Given the description of an element on the screen output the (x, y) to click on. 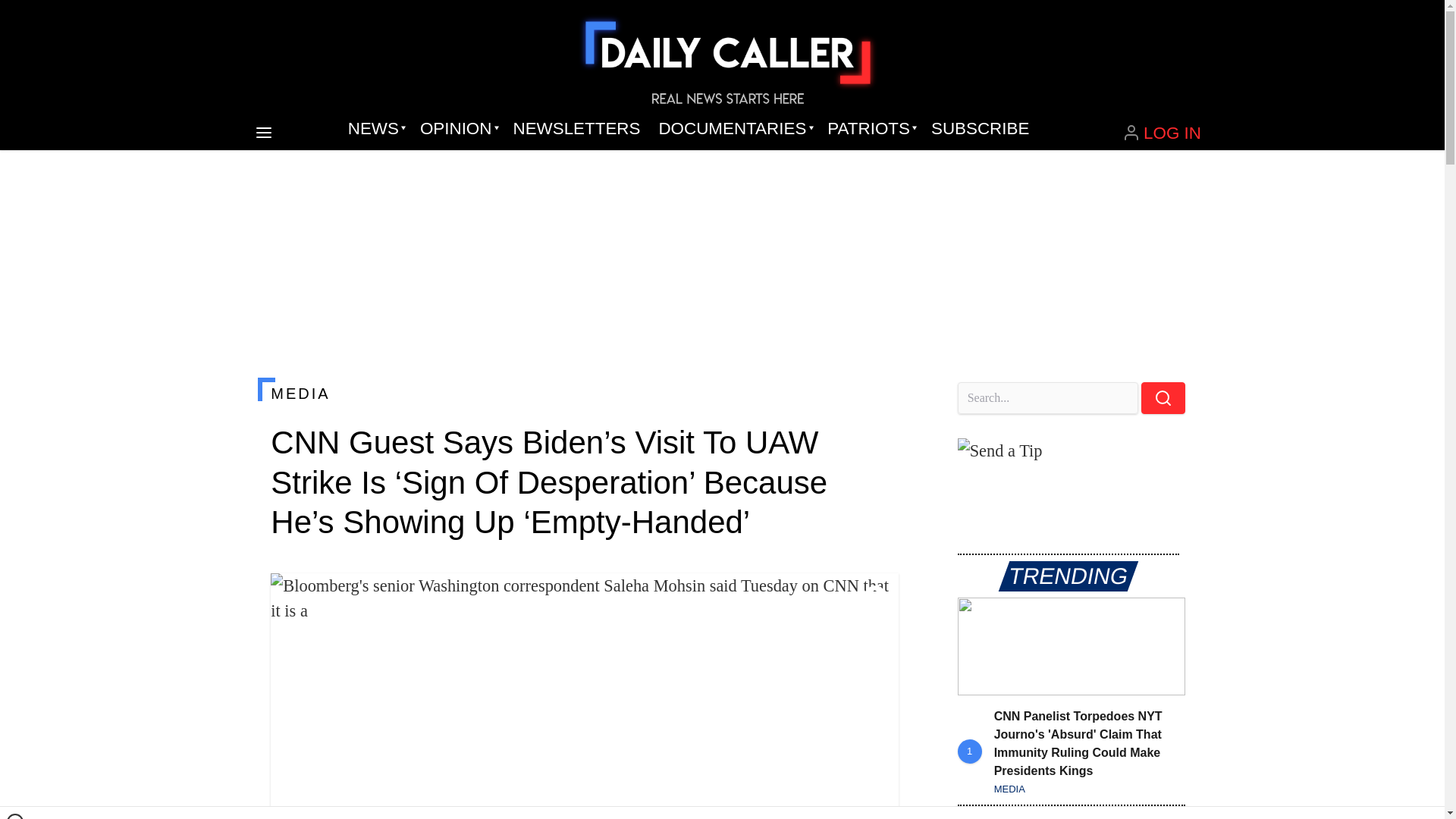
PATRIOTS (869, 128)
Toggle fullscreen (874, 596)
Close window (14, 816)
DOCUMENTARIES (733, 128)
OPINION (456, 128)
SUBSCRIBE (979, 128)
NEWS (374, 128)
MEDIA (584, 393)
